Given the description of an element on the screen output the (x, y) to click on. 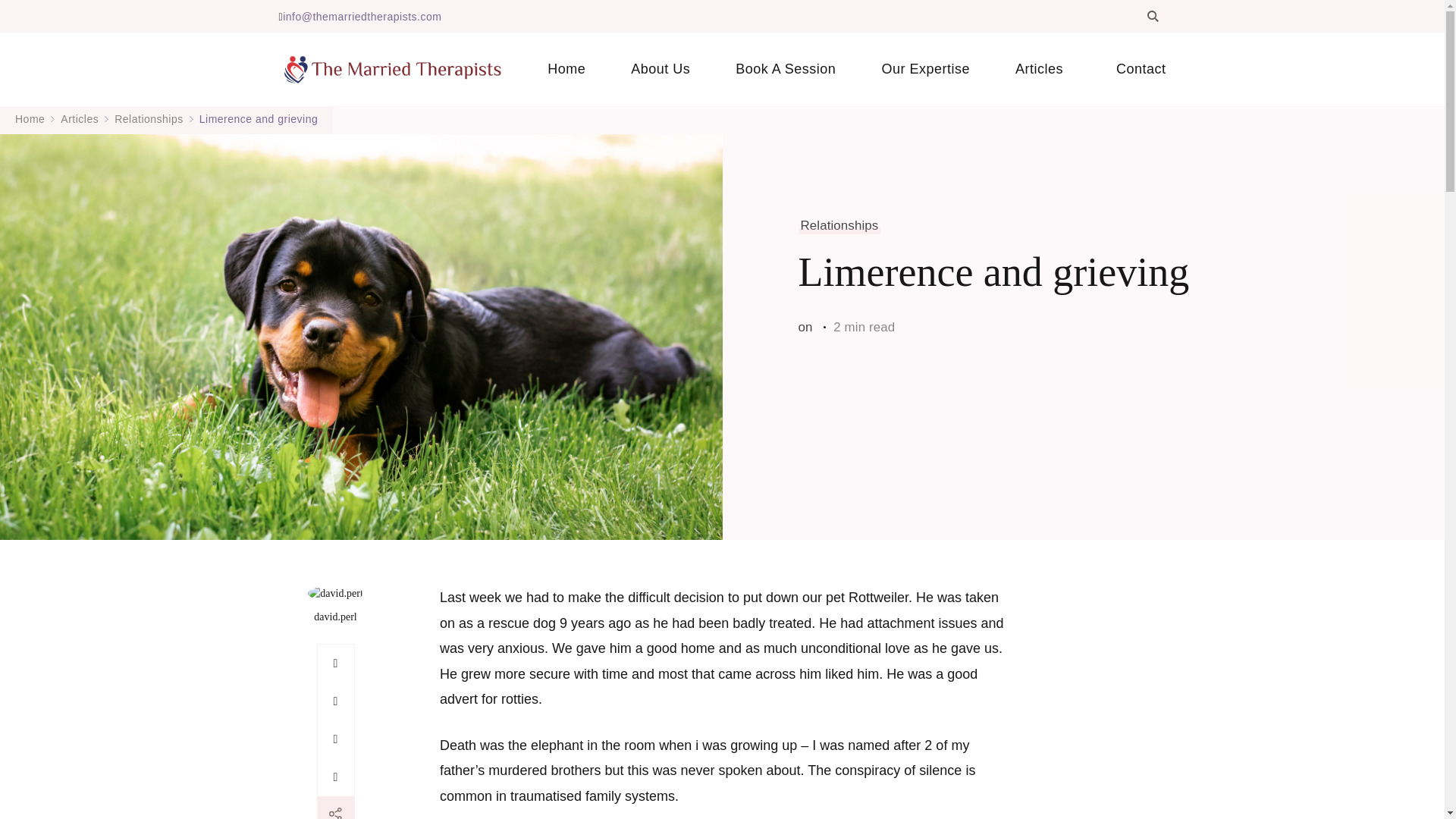
Articles (1042, 69)
Home (566, 69)
About Us (660, 69)
Our Expertise (925, 69)
Book A Session (786, 69)
Contact (1129, 69)
